Given the description of an element on the screen output the (x, y) to click on. 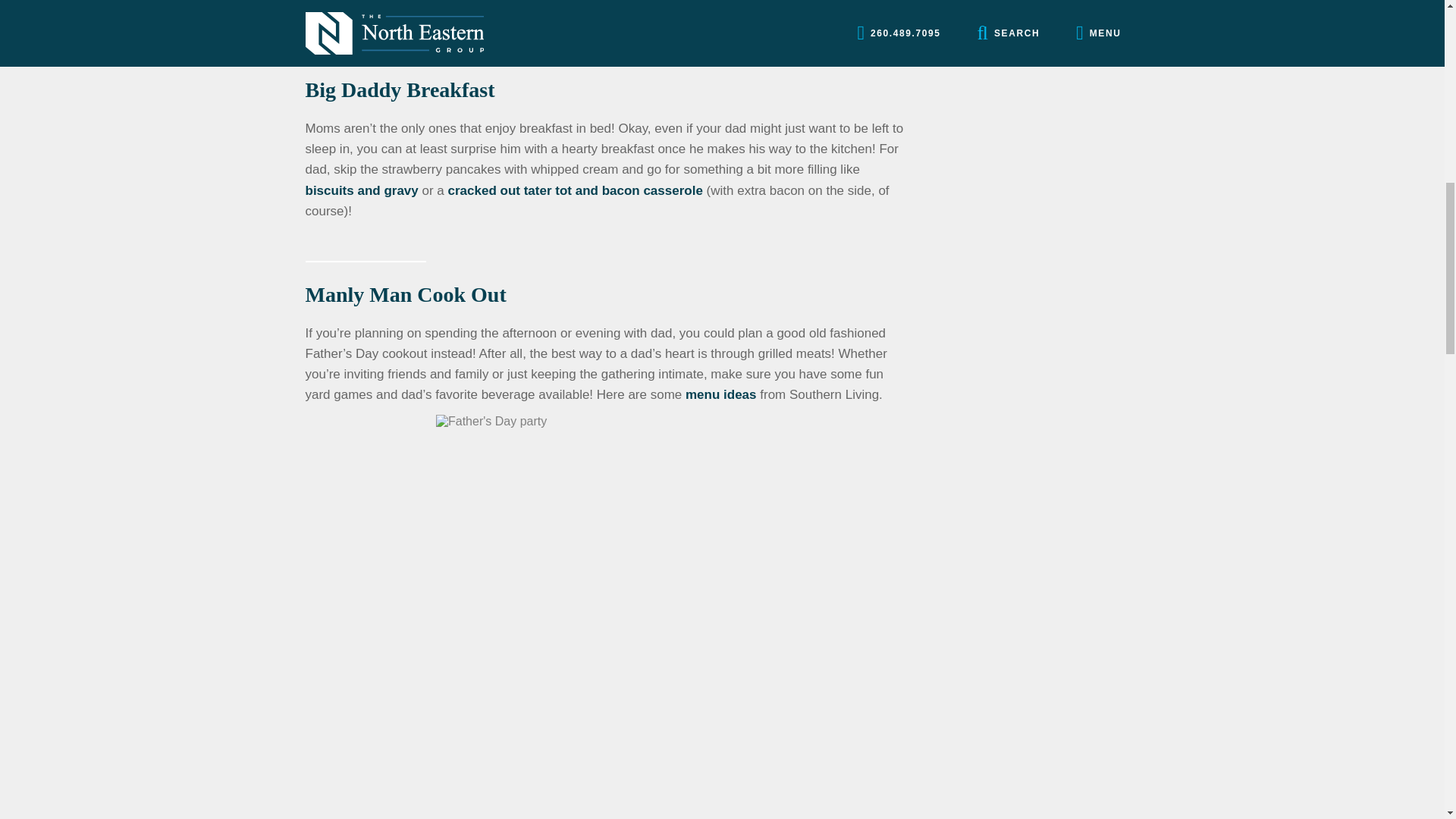
cracked out tater tot and bacon casserole (575, 190)
menu ideas (721, 394)
biscuits and gravy (360, 190)
